Given the description of an element on the screen output the (x, y) to click on. 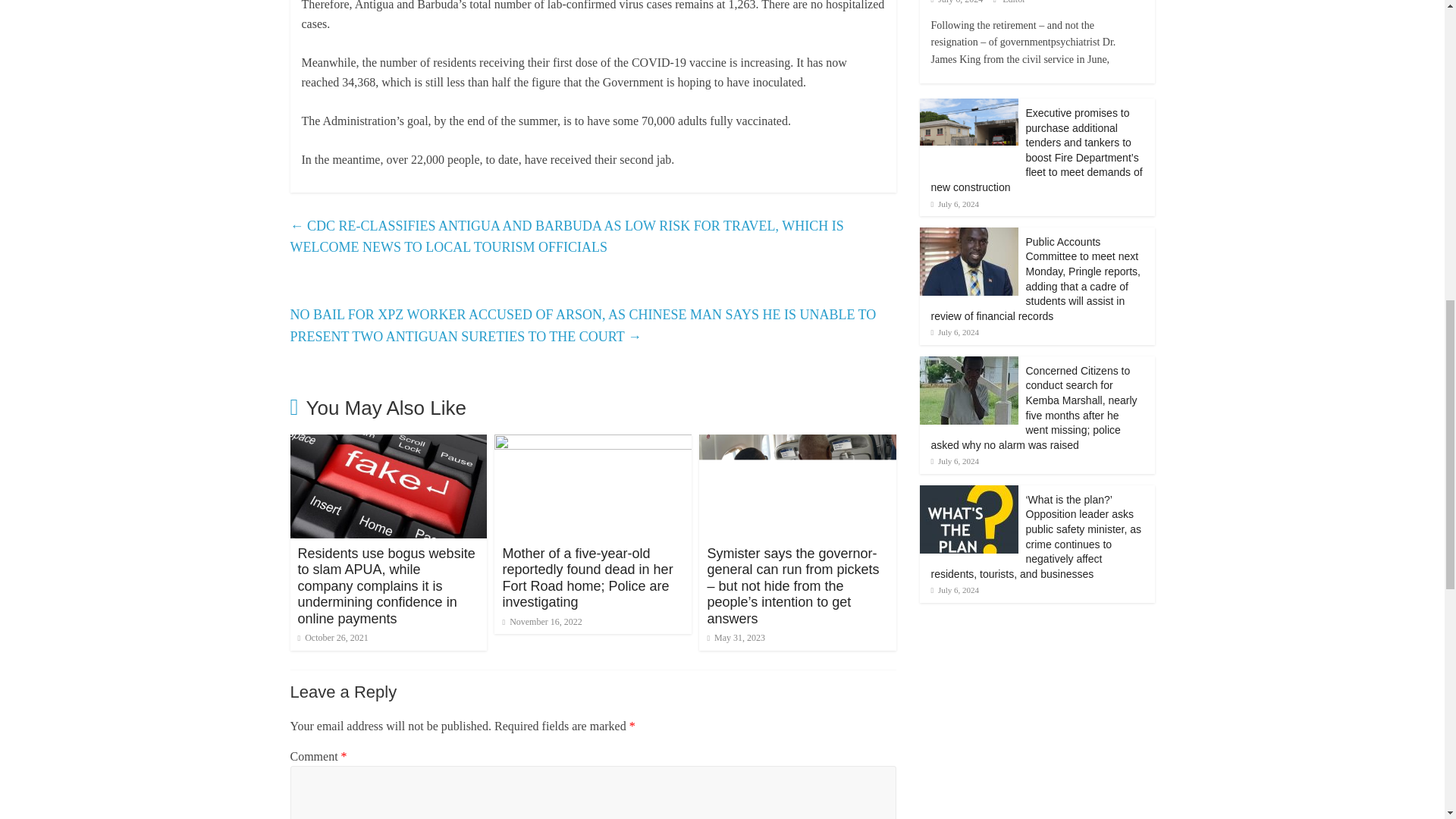
4:09 pm (332, 637)
